Given the description of an element on the screen output the (x, y) to click on. 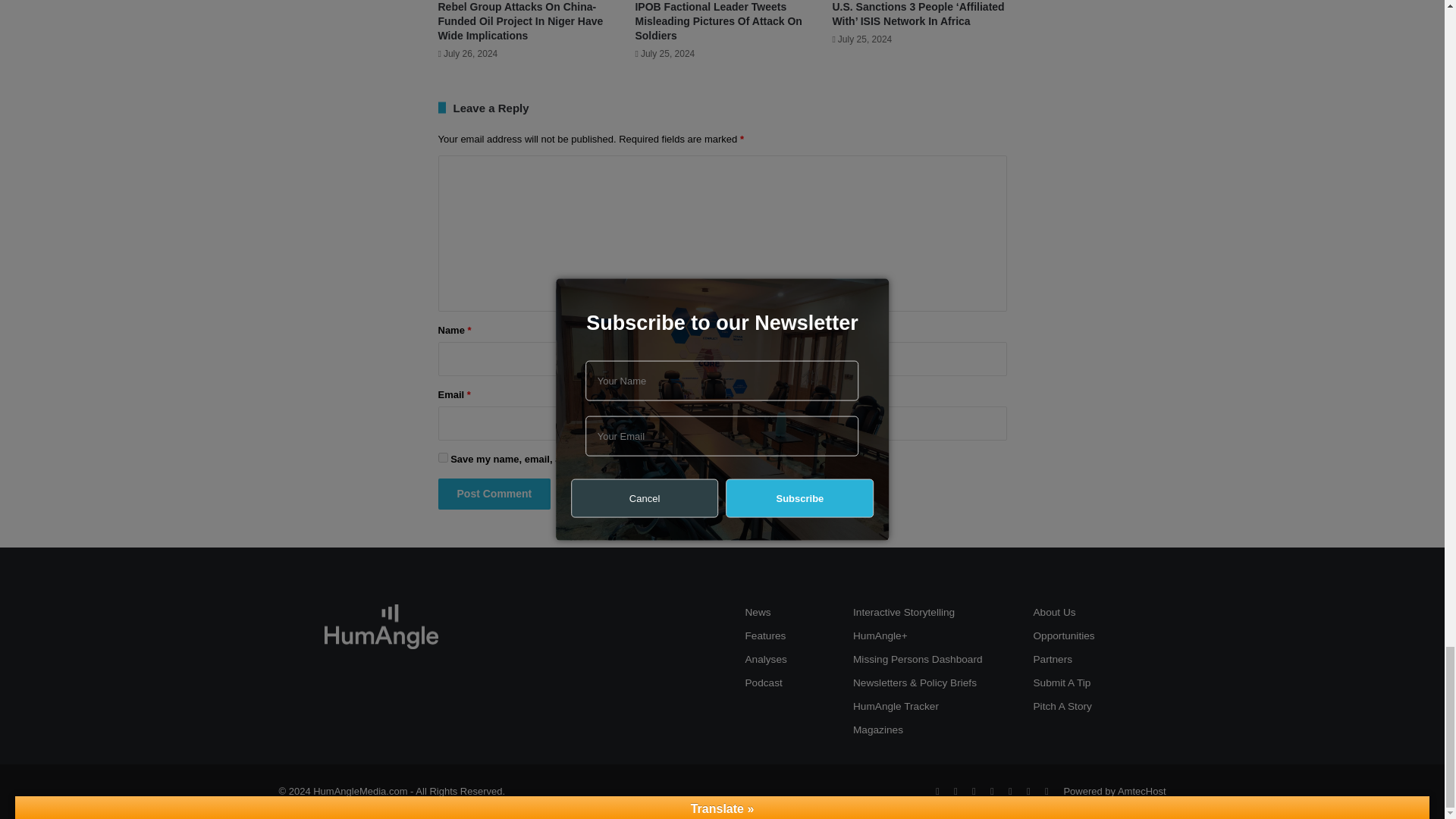
yes (443, 457)
Post Comment (494, 493)
